Given the description of an element on the screen output the (x, y) to click on. 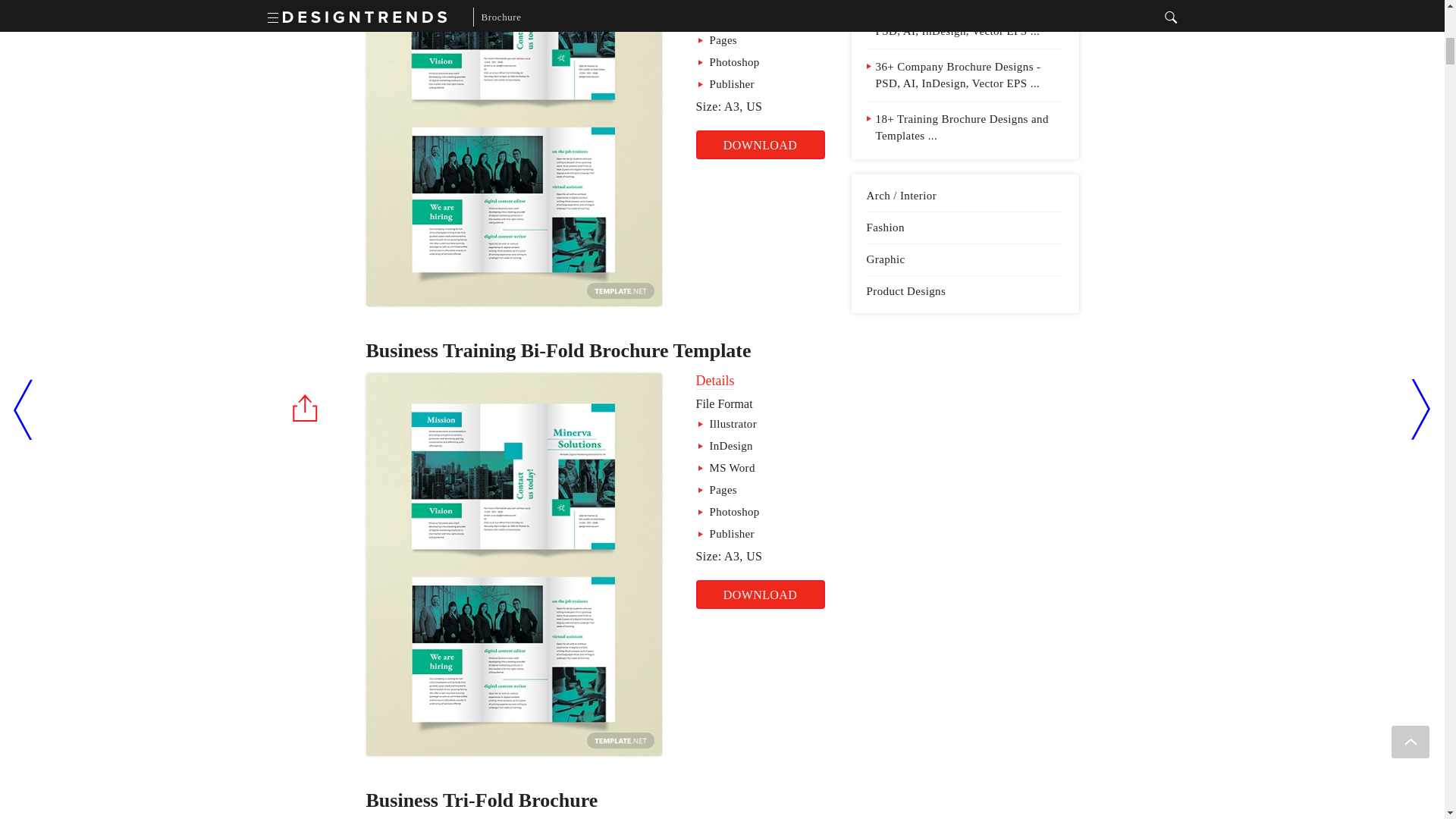
DOWNLOAD (760, 144)
DOWNLOAD (760, 594)
